Given the description of an element on the screen output the (x, y) to click on. 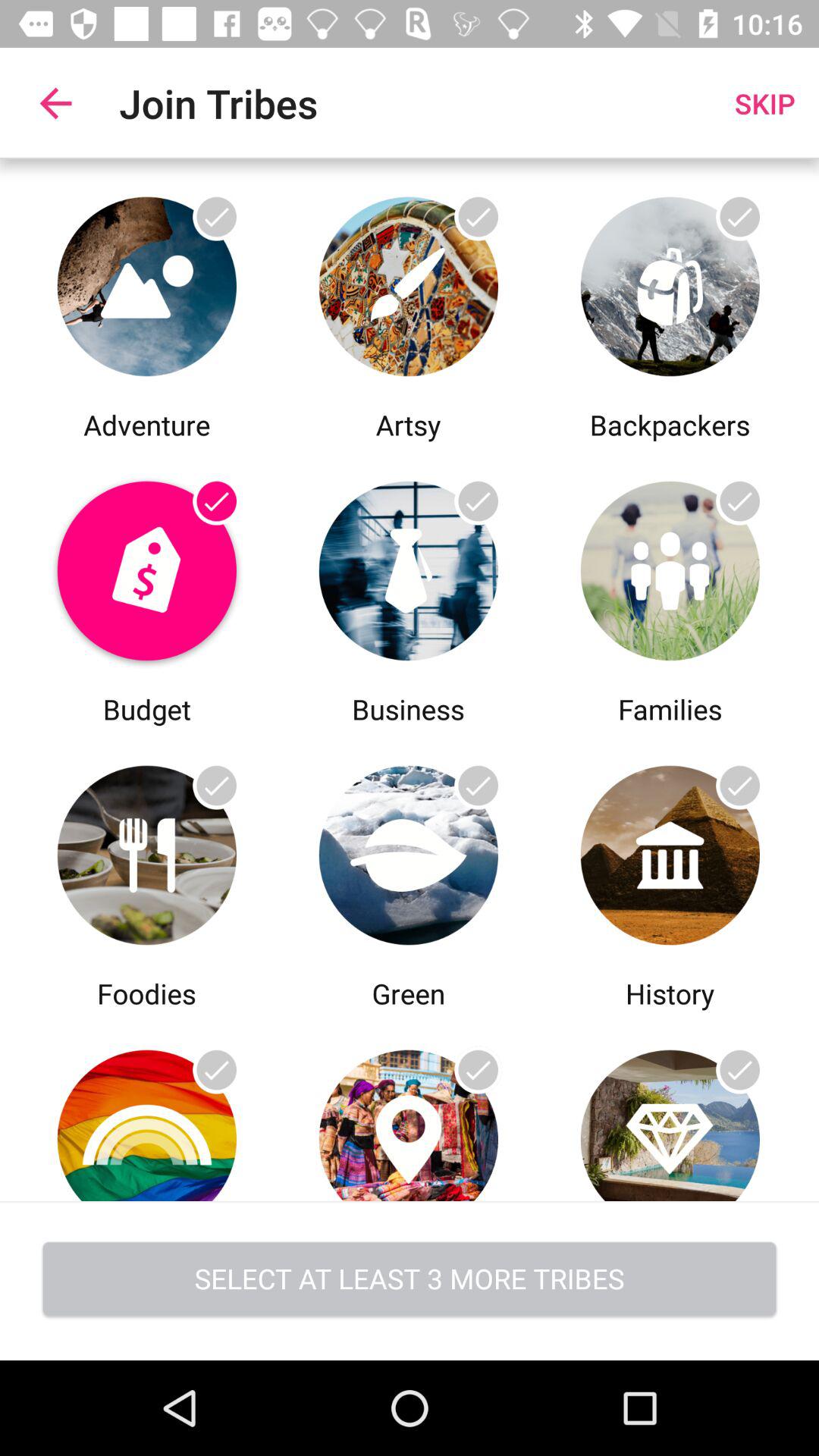
select option (146, 566)
